Given the description of an element on the screen output the (x, y) to click on. 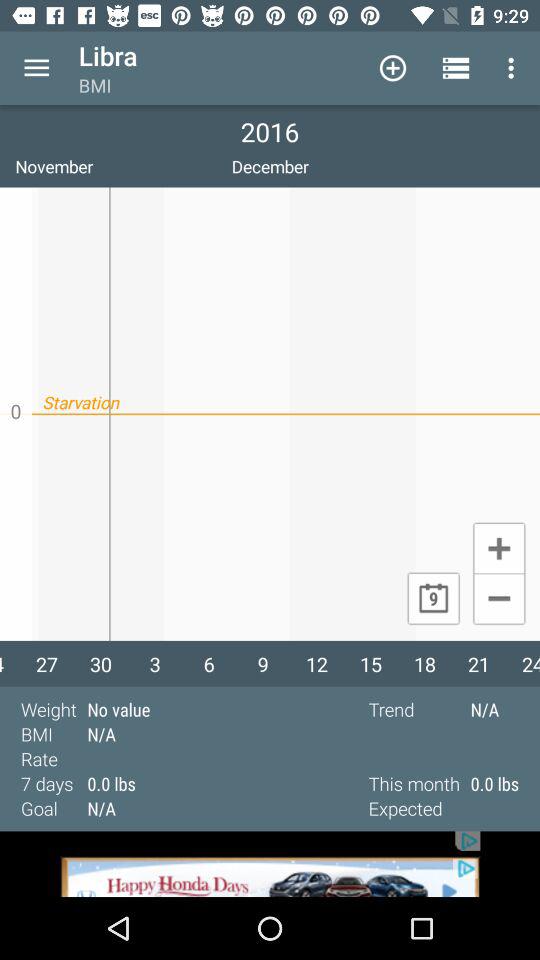
advertisement page (270, 864)
